Given the description of an element on the screen output the (x, y) to click on. 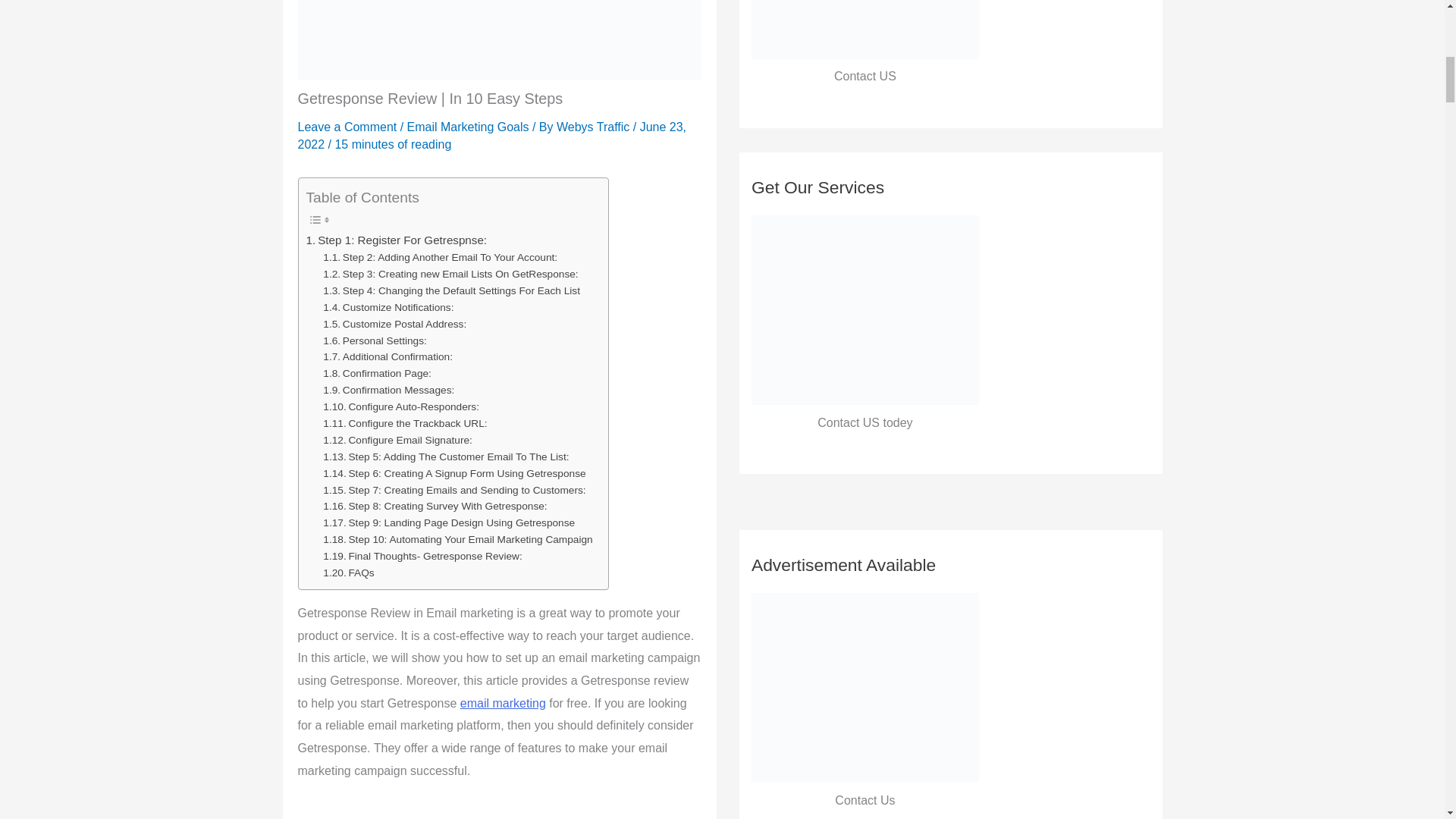
Webys Traffic (594, 126)
Step 2: Adding Another Email To Your Account: (440, 257)
Leave a Comment (346, 126)
Step 1: Register For Getrespnse: (396, 239)
Step 3: Creating new Email Lists On GetResponse: (450, 274)
Email Marketing Goals (468, 126)
